Given the description of an element on the screen output the (x, y) to click on. 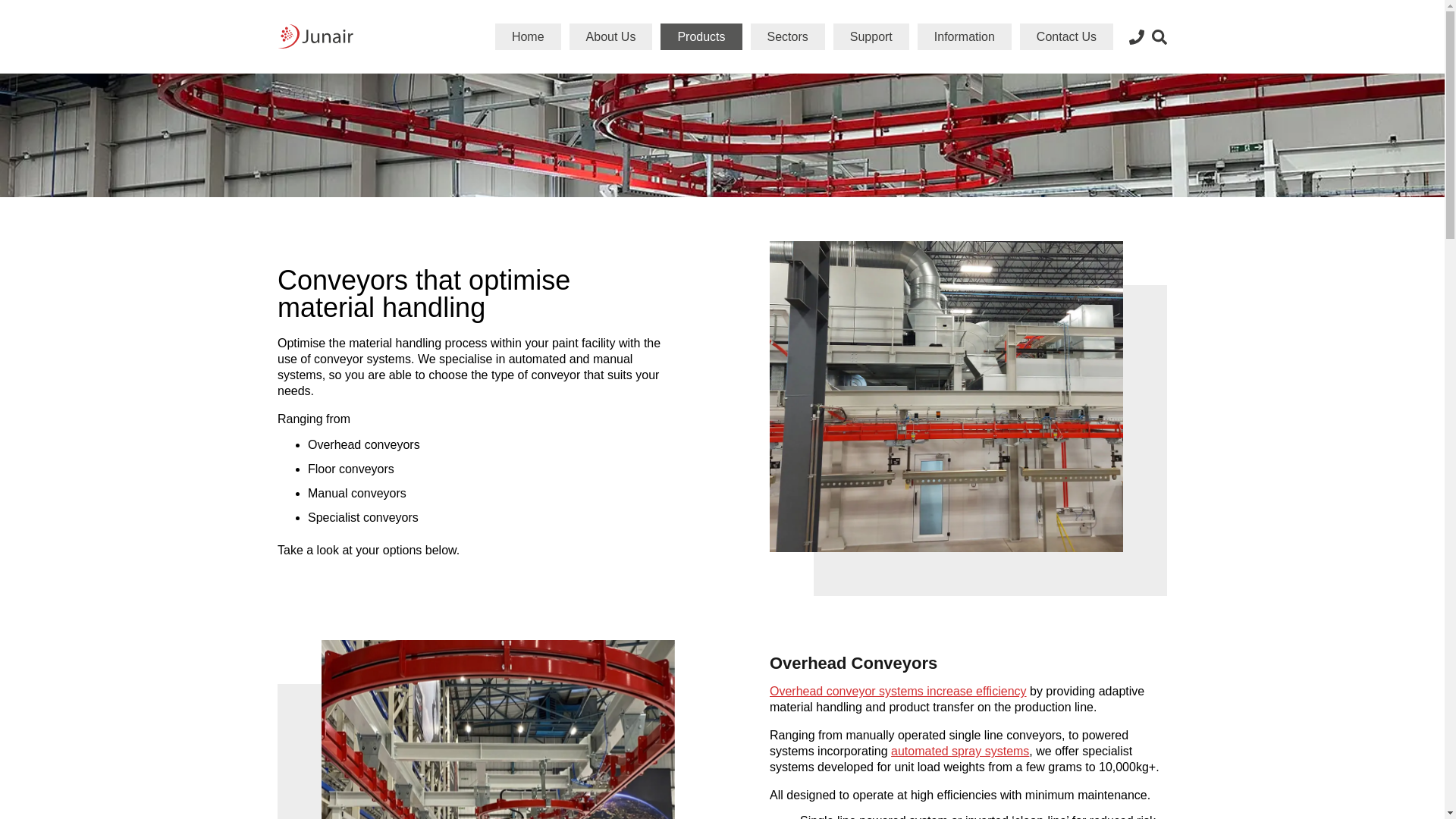
About Us (610, 36)
Home (527, 36)
Sectors (788, 36)
Information (964, 36)
Junair logo (315, 36)
Junair (315, 61)
Junair logo (315, 36)
Contact Us (1066, 36)
Products (701, 36)
Support (870, 36)
